Given the description of an element on the screen output the (x, y) to click on. 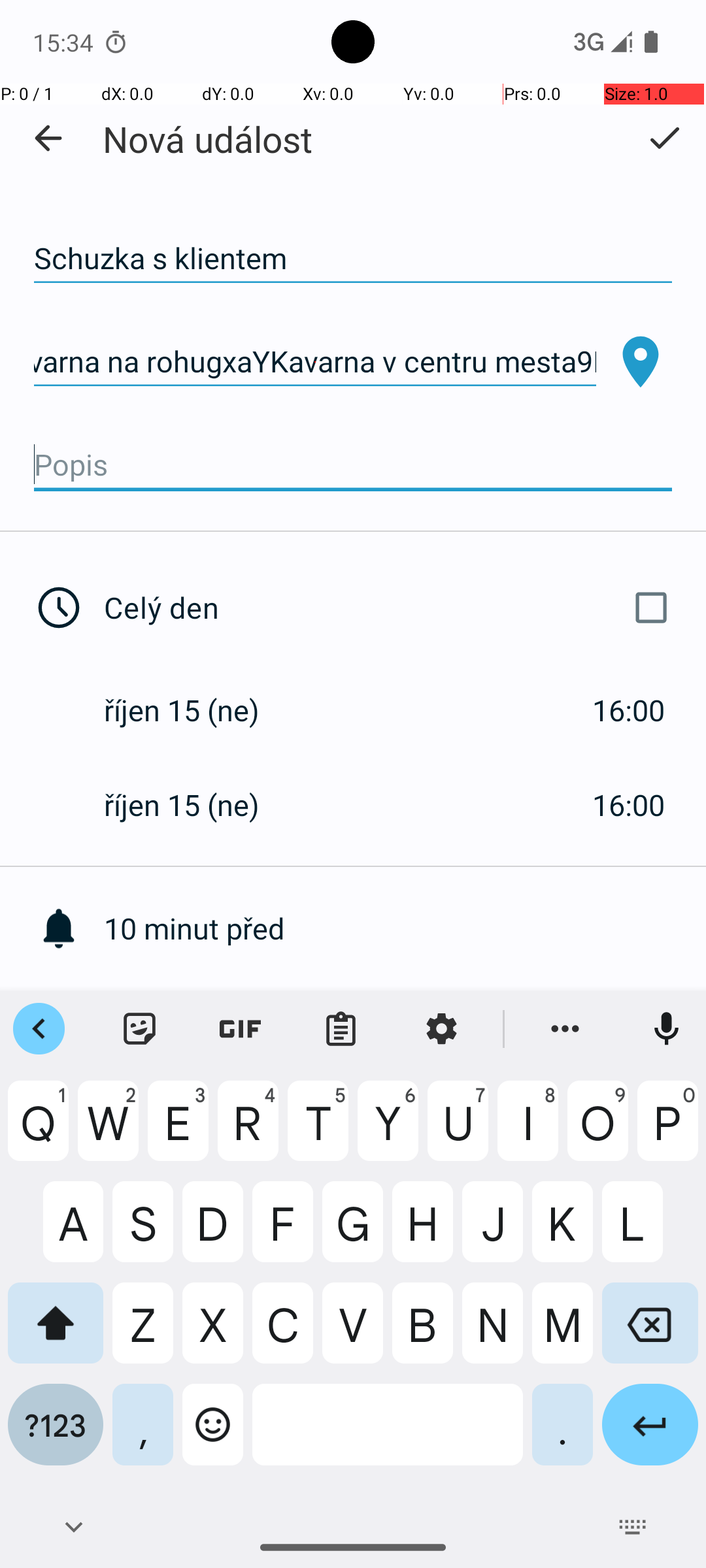
Uložit Element type: android.widget.Button (664, 137)
Schuzka s klientem Element type: android.widget.EditText (352, 258)
Kavarna na rohugxaYKavarna v centru mesta9KhRvc Element type: android.widget.EditText (314, 361)
Popis Element type: android.widget.EditText (352, 465)
říjen 15 (ne) Element type: android.widget.TextView (194, 709)
10 minut před Element type: android.widget.TextView (404, 927)
Přidat další připomínku Element type: android.widget.TextView (404, 1022)
Celý den Element type: android.widget.CheckBox (390, 607)
